Given the description of an element on the screen output the (x, y) to click on. 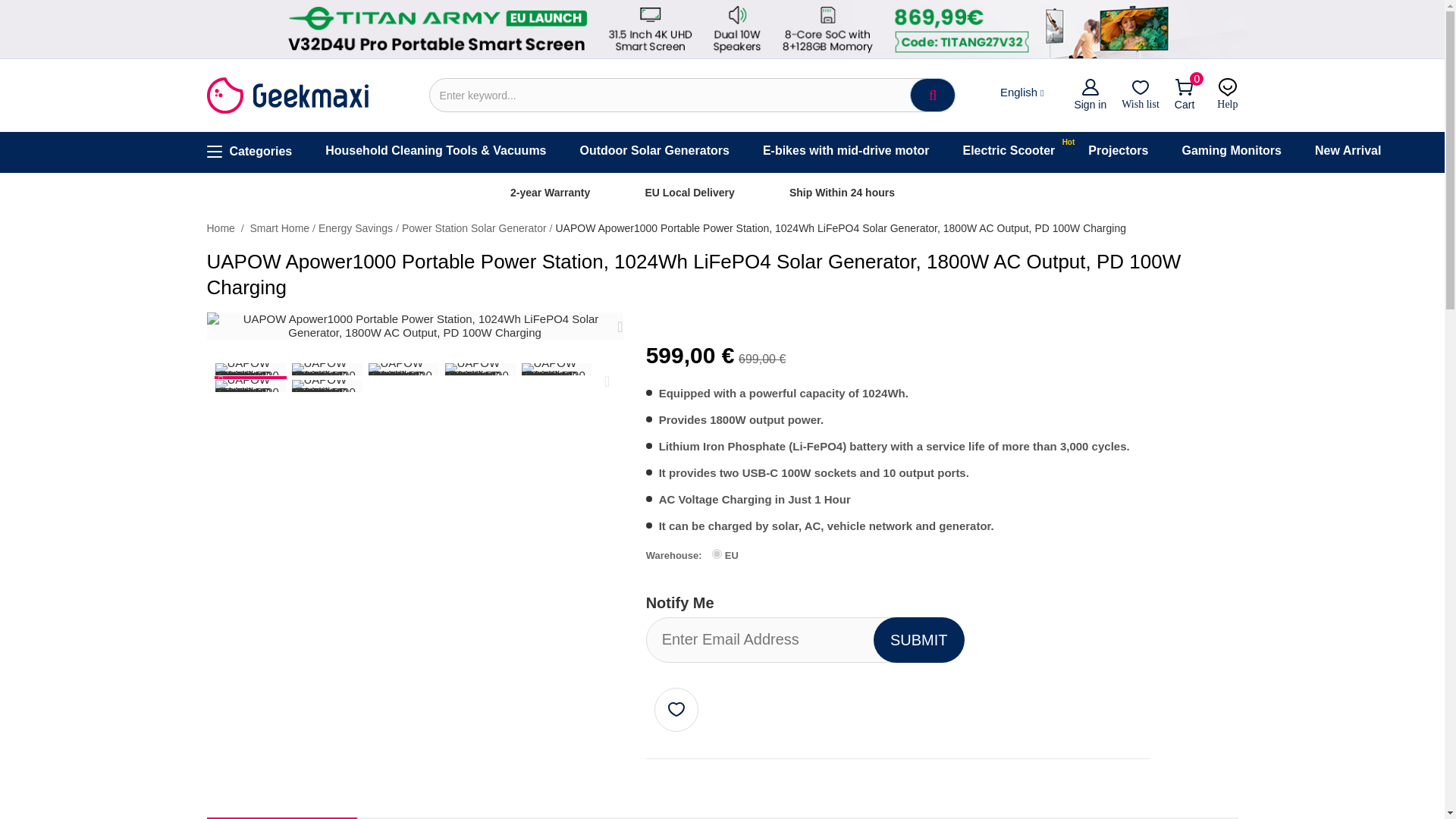
4 (716, 553)
GEEKMAXI.COM (287, 94)
Return to Home (220, 227)
Wish list (1139, 95)
Smart Home (280, 228)
Log in to your customer account (1090, 95)
Power Station Solar Generator (474, 228)
Energy Savings (355, 228)
